Given the description of an element on the screen output the (x, y) to click on. 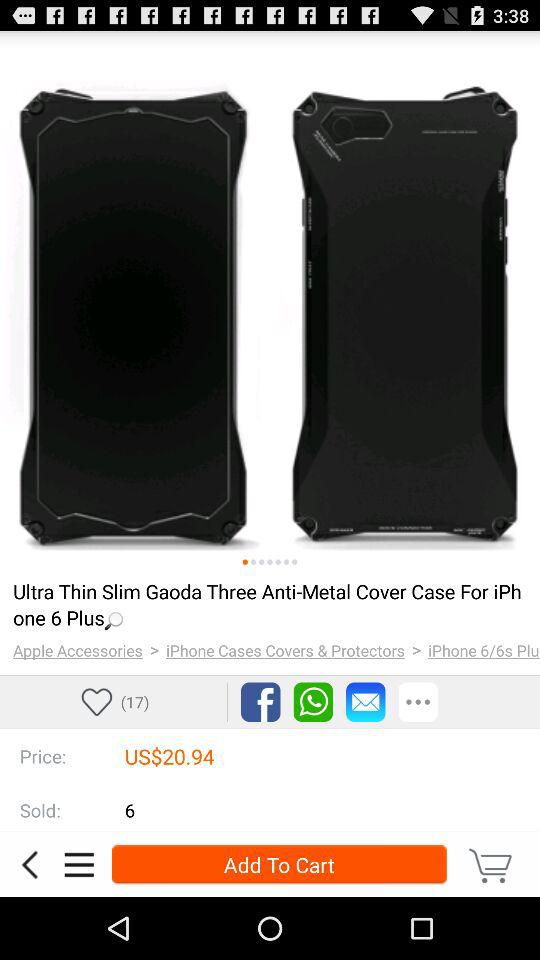
go to next image (277, 561)
